Given the description of an element on the screen output the (x, y) to click on. 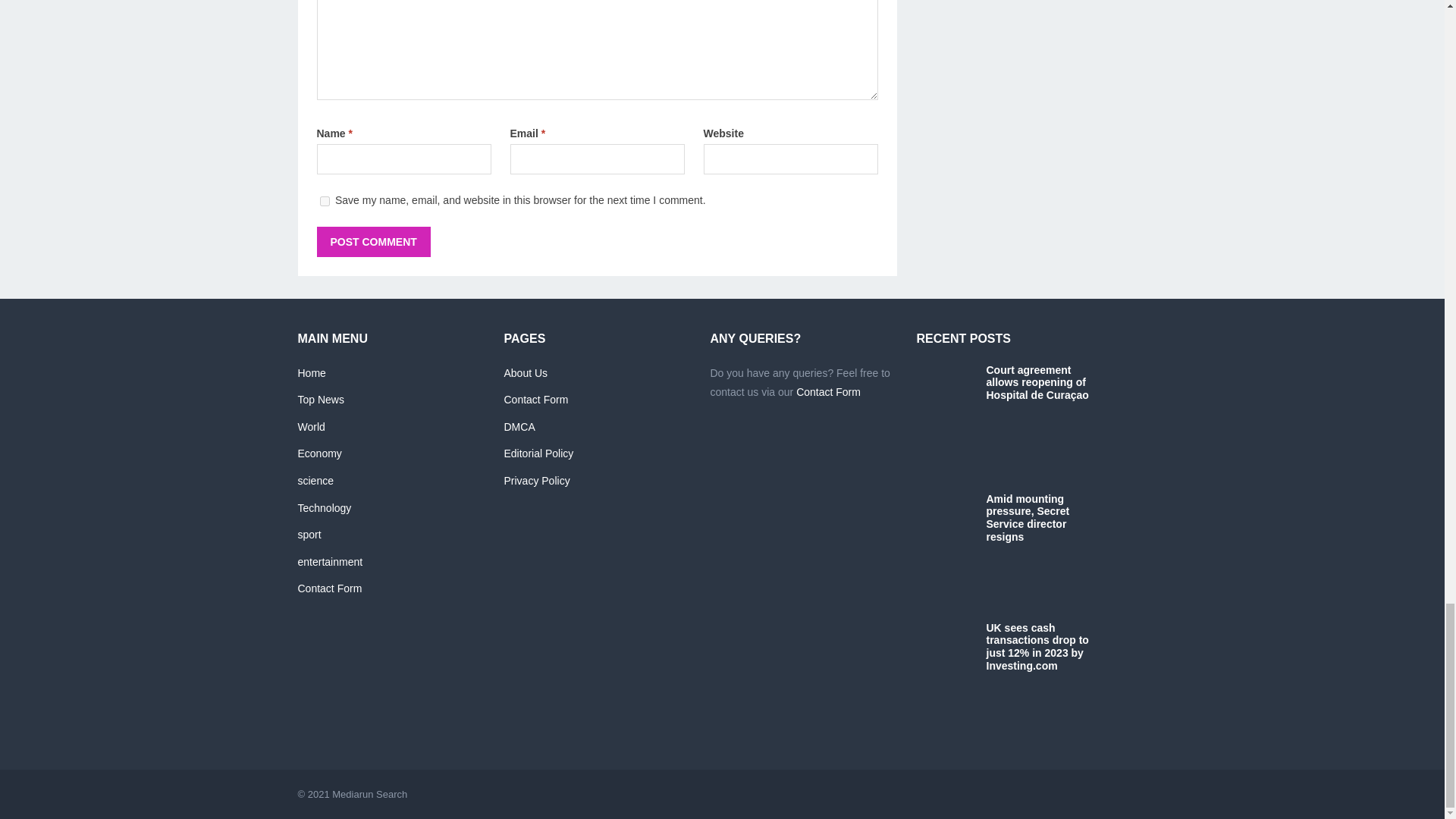
Amid mounting pressure, Secret Service director resigns (945, 549)
Post Comment (373, 241)
yes (325, 201)
